Given the description of an element on the screen output the (x, y) to click on. 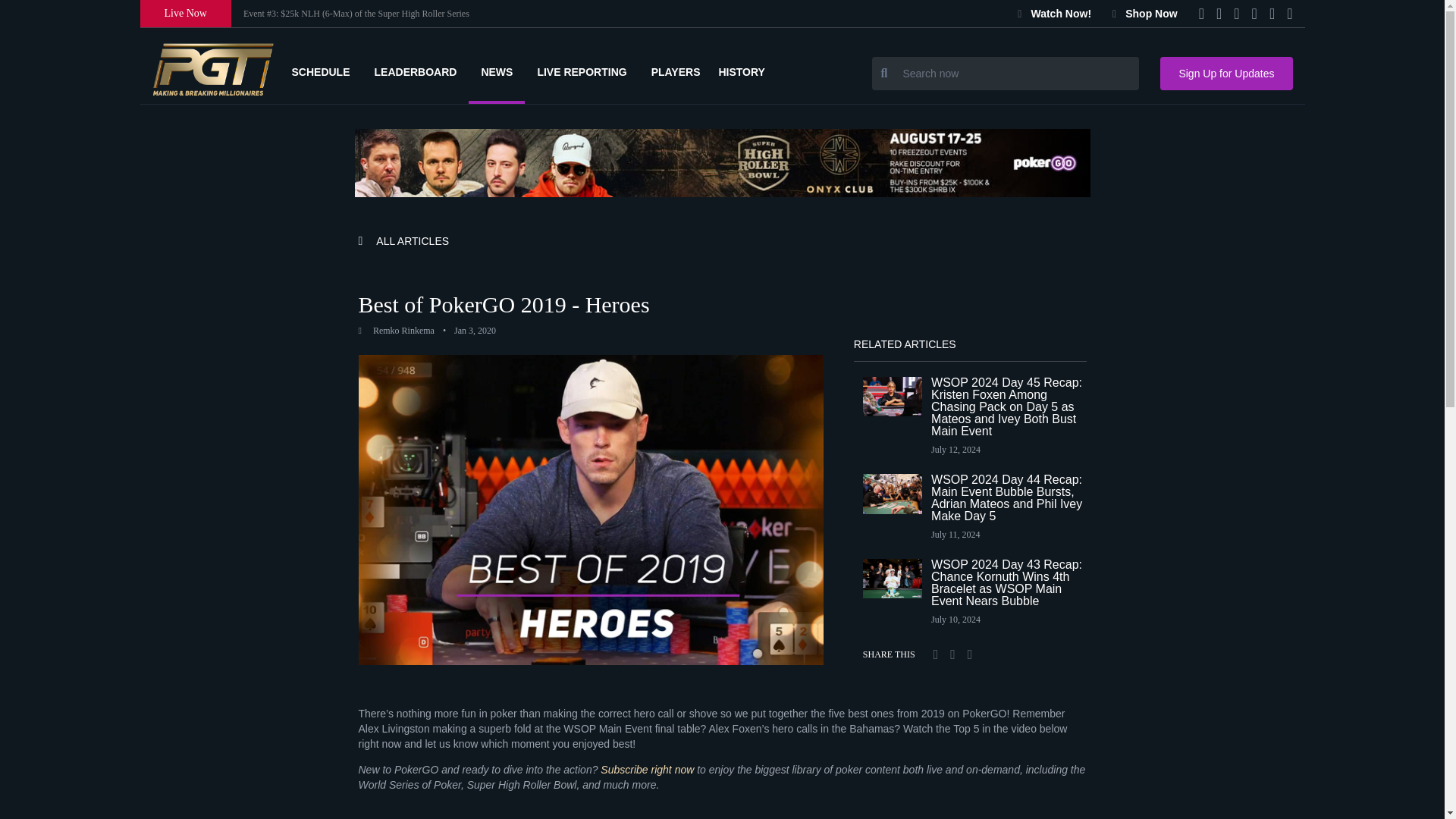
LEADERBOARD (415, 71)
PLAYERS (675, 71)
NEWS (496, 71)
HISTORY (746, 72)
LIVE REPORTING (581, 71)
Live Now (184, 13)
Watch Now! (1053, 13)
Shop Now (1144, 13)
Sign Up for Updates (1226, 73)
